Given the description of an element on the screen output the (x, y) to click on. 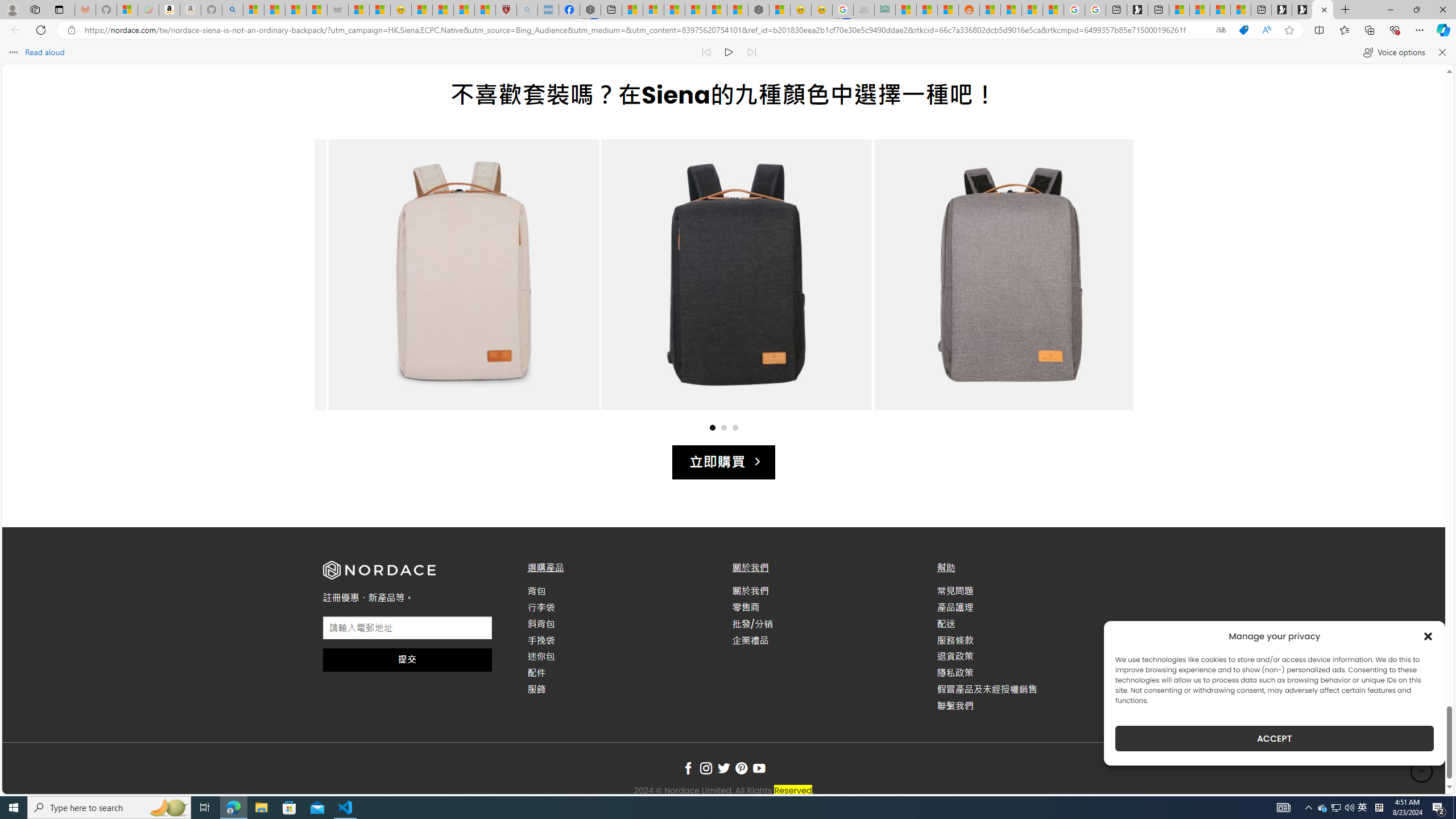
Read next paragraph (750, 52)
Page dot 1 (711, 427)
Combat Siege (337, 9)
